Given the description of an element on the screen output the (x, y) to click on. 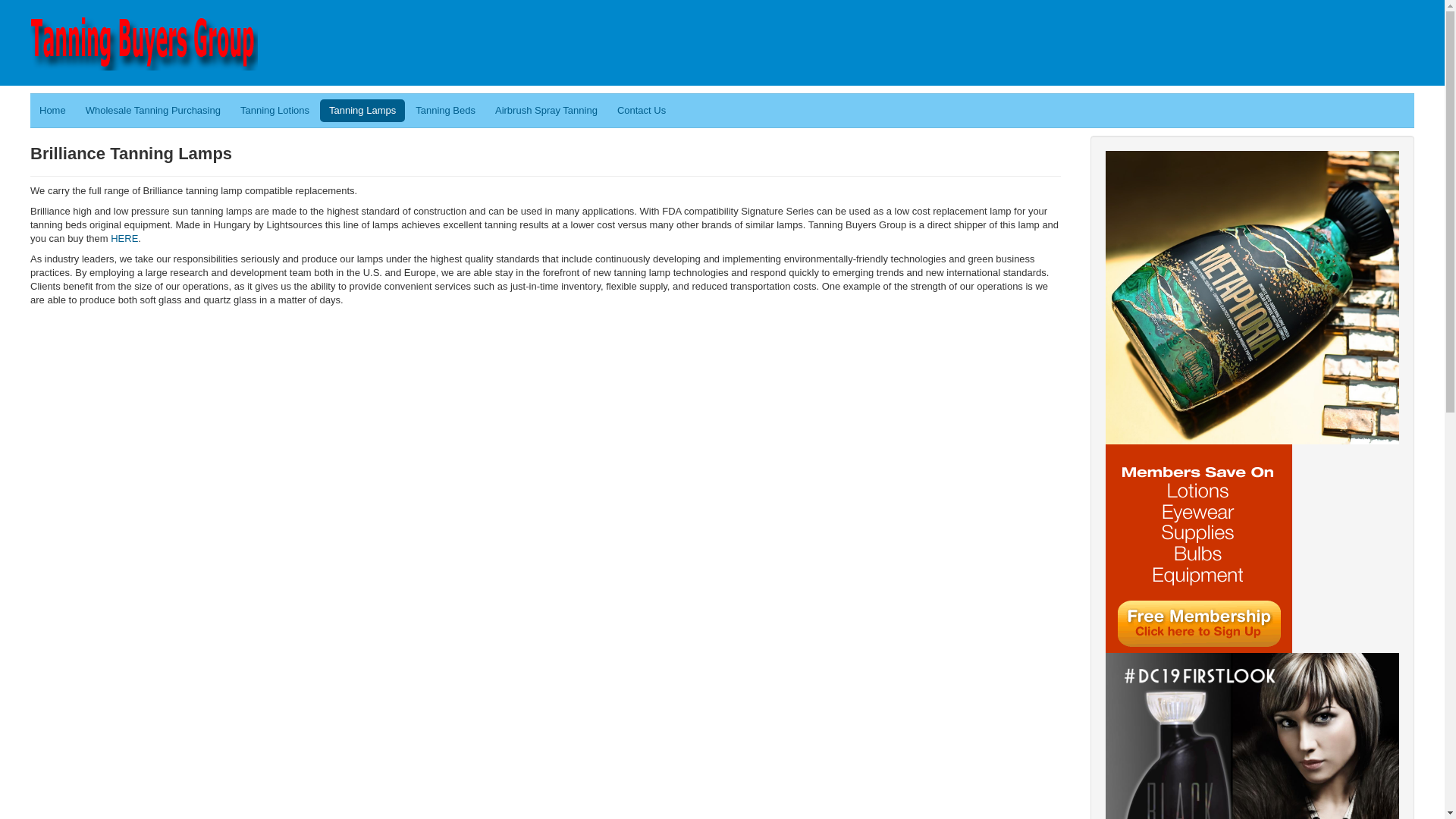
HERE (124, 238)
Contact Us (641, 110)
Tanning Lotions (274, 110)
Wholesale Tanning Purchasing (153, 110)
Tanning Beds (445, 110)
Tanning Lamps (362, 110)
Side Banner Pumpkin (1198, 547)
Home (52, 110)
Airbrush Spray Tanning (546, 110)
banner 6 (1252, 798)
